Given the description of an element on the screen output the (x, y) to click on. 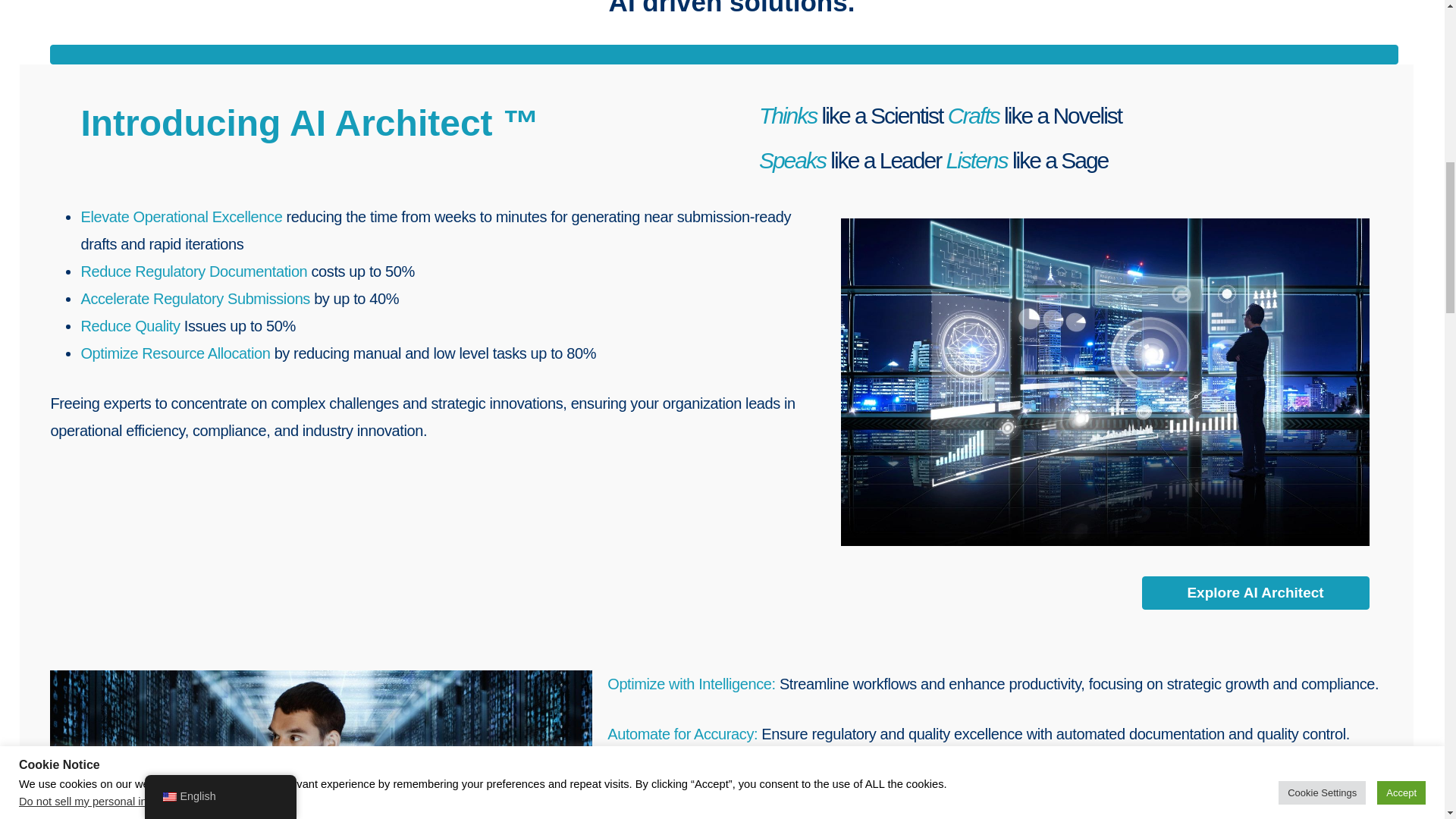
qtq80-84IvQ2 (320, 744)
Explore AI Architect (1255, 592)
